Given the description of an element on the screen output the (x, y) to click on. 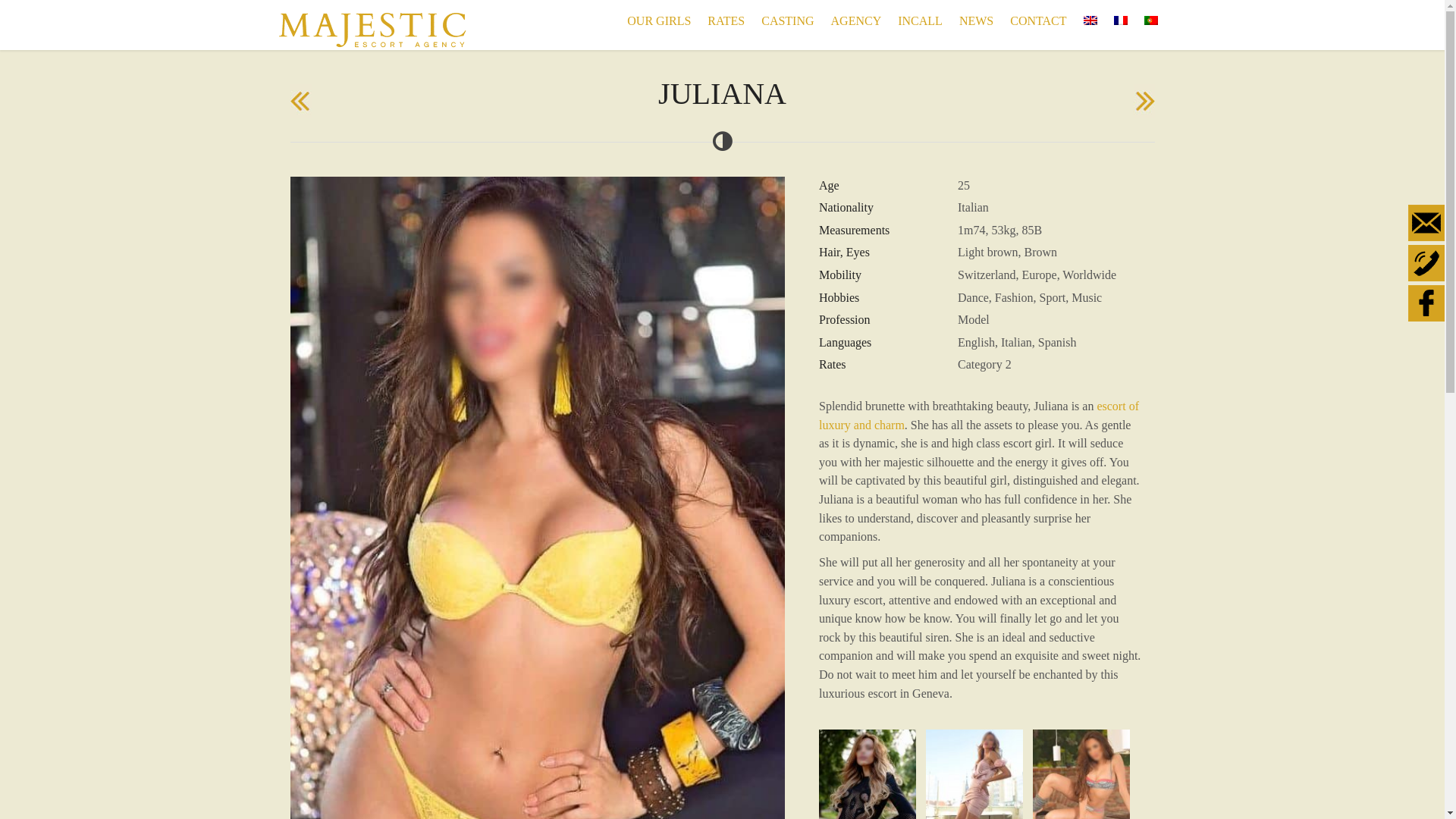
CASTING Element type: text (787, 21)
AGENCY Element type: text (856, 21)
CONTACT Element type: text (1037, 21)
Facebook Element type: hover (1426, 303)
Share This With Your Friends Element type: hover (1427, 264)
RATES Element type: text (726, 21)
Email us Element type: hover (1426, 222)
NEWS Element type: text (975, 21)
English Element type: hover (1089, 20)
OUR GIRLS Element type: text (658, 21)
Call : 079 50 149 64 Element type: hover (1426, 262)
escort of luxury and charm Element type: text (979, 415)
INCALL Element type: text (919, 21)
